Given the description of an element on the screen output the (x, y) to click on. 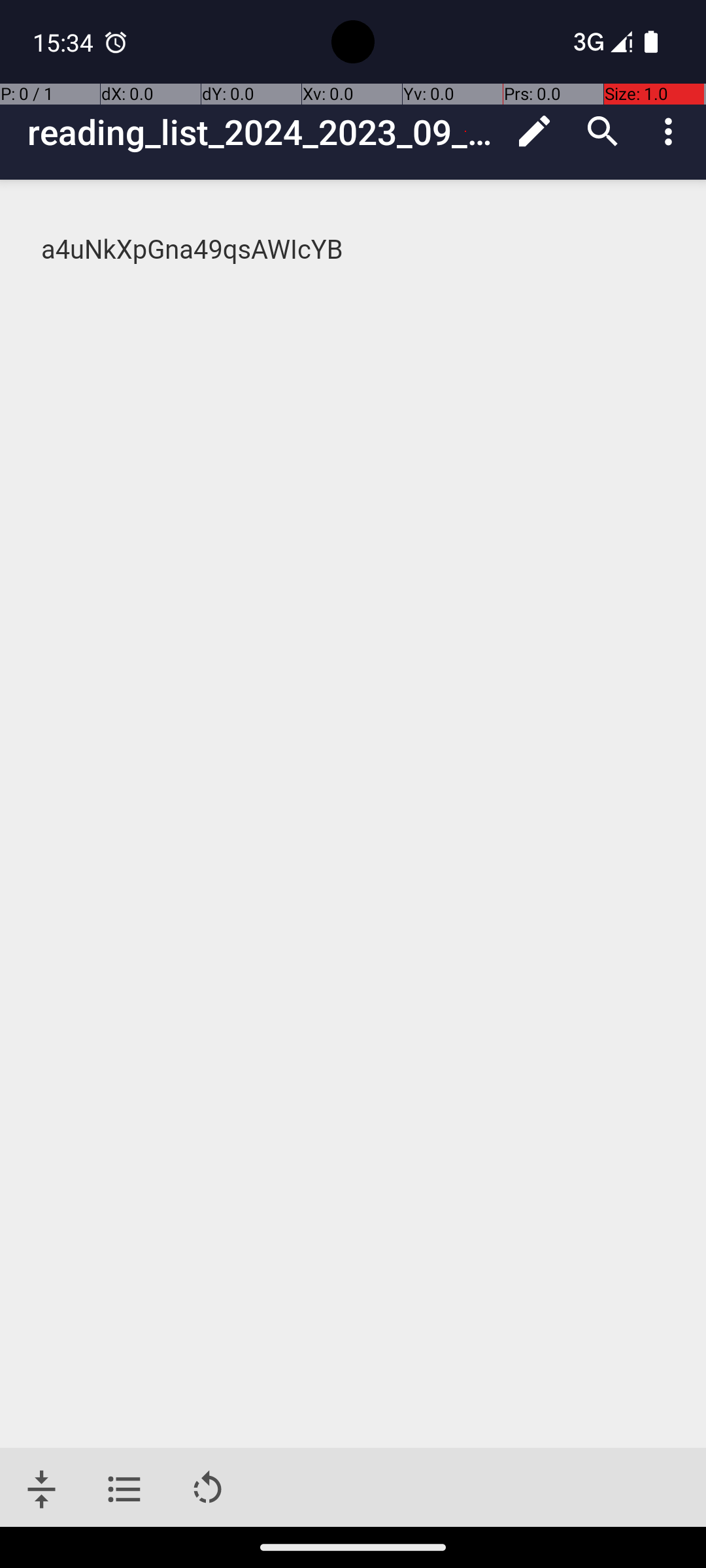
reading_list_2024_2023_09_17 Element type: android.widget.TextView (263, 131)
a4uNkXpGna49qsAWIcYB Element type: android.widget.TextView (354, 249)
